Given the description of an element on the screen output the (x, y) to click on. 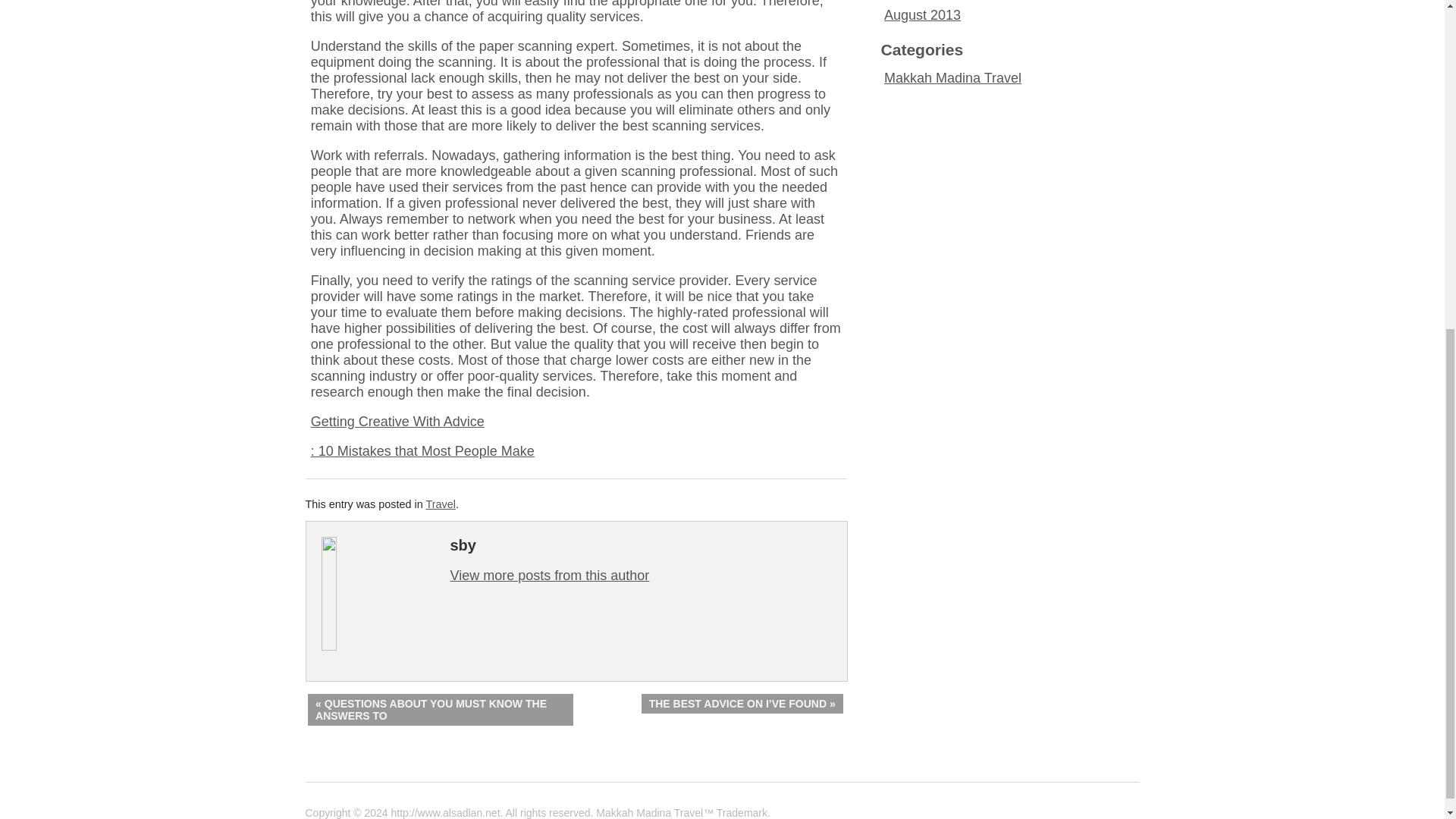
View more posts from this author (549, 575)
Travel (439, 503)
: 10 Mistakes that Most People Make (422, 450)
Getting Creative With Advice (397, 421)
